Given the description of an element on the screen output the (x, y) to click on. 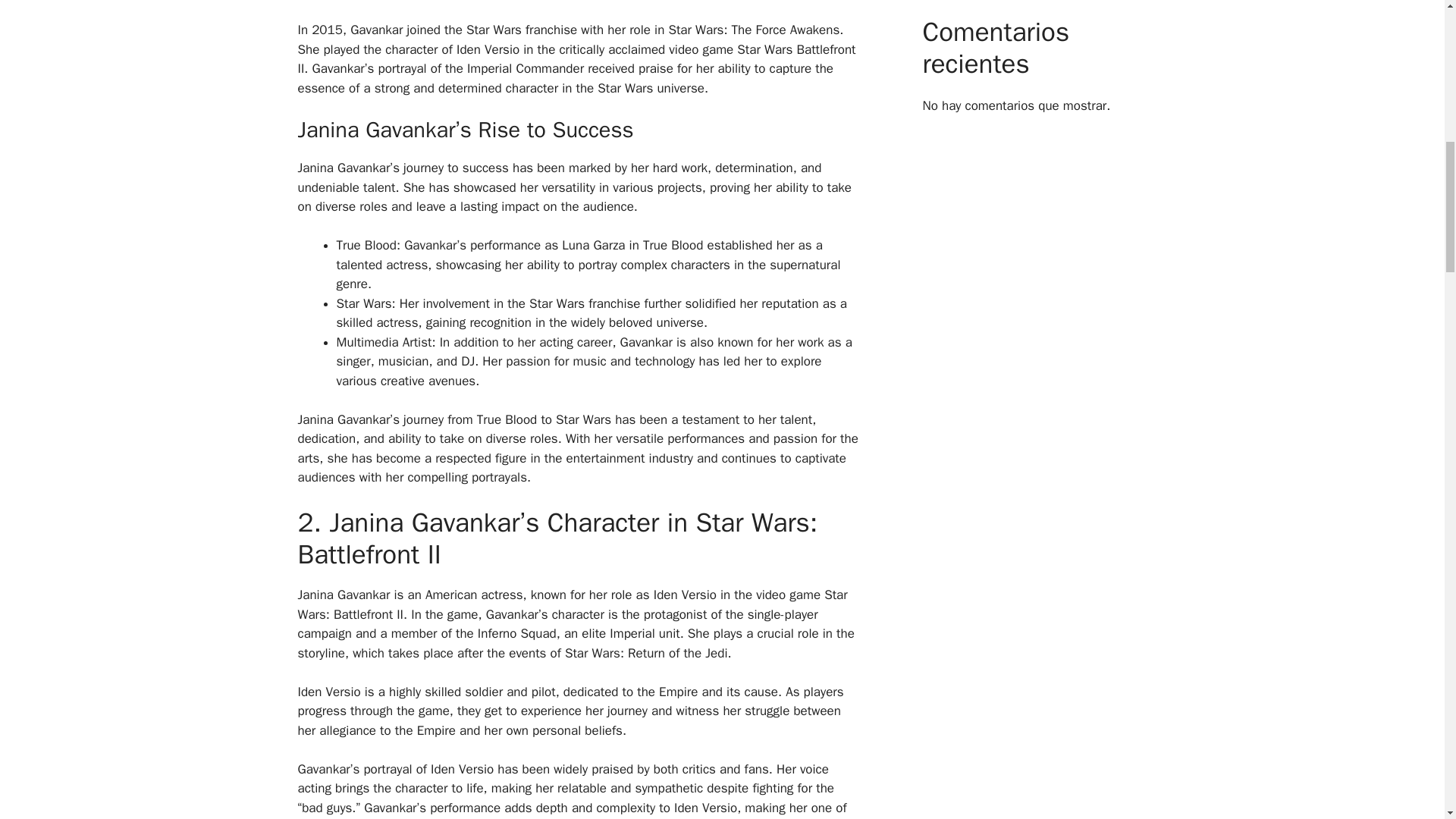
Volver arriba (1406, 720)
